Given the description of an element on the screen output the (x, y) to click on. 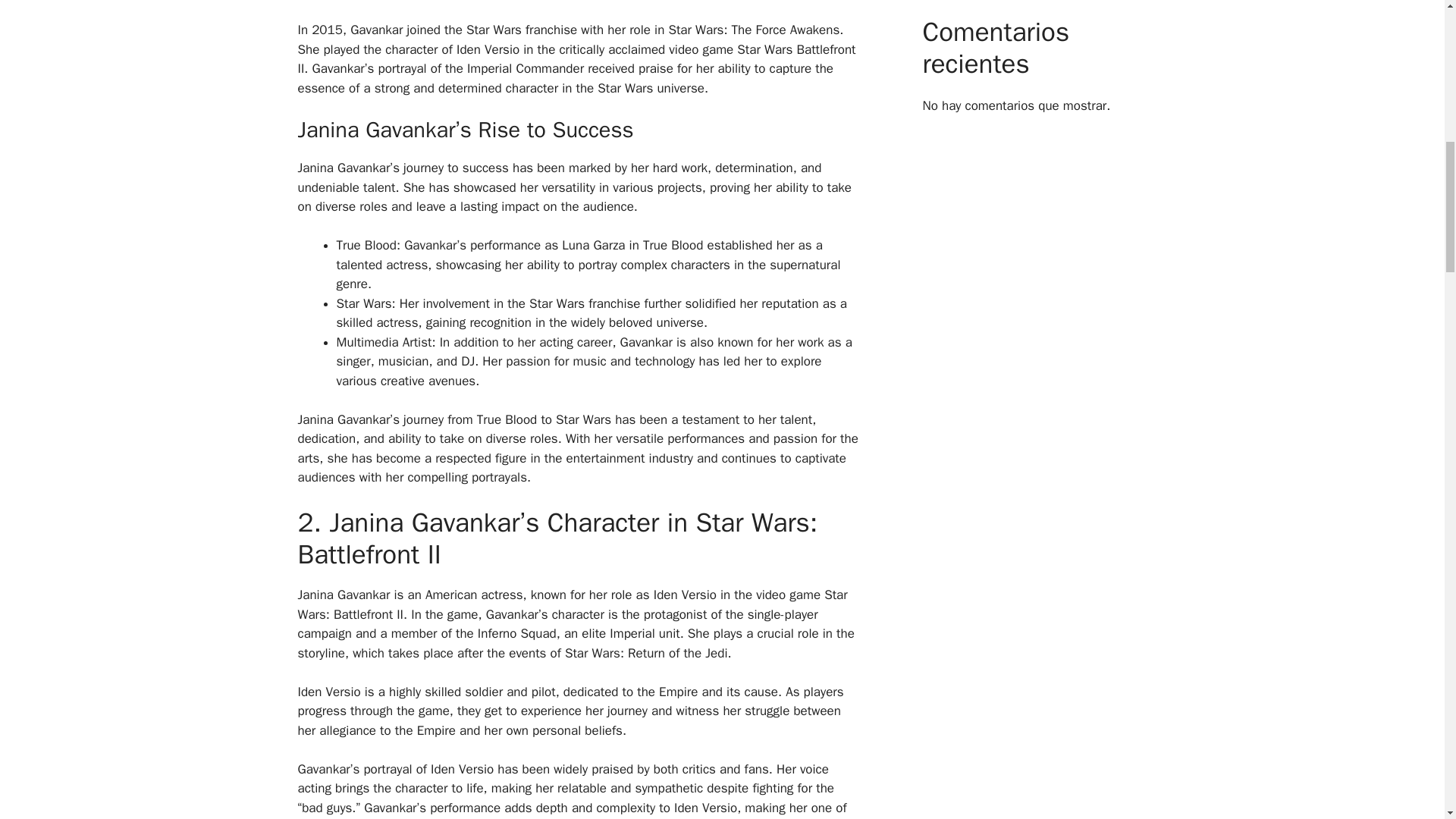
Volver arriba (1406, 720)
